Given the description of an element on the screen output the (x, y) to click on. 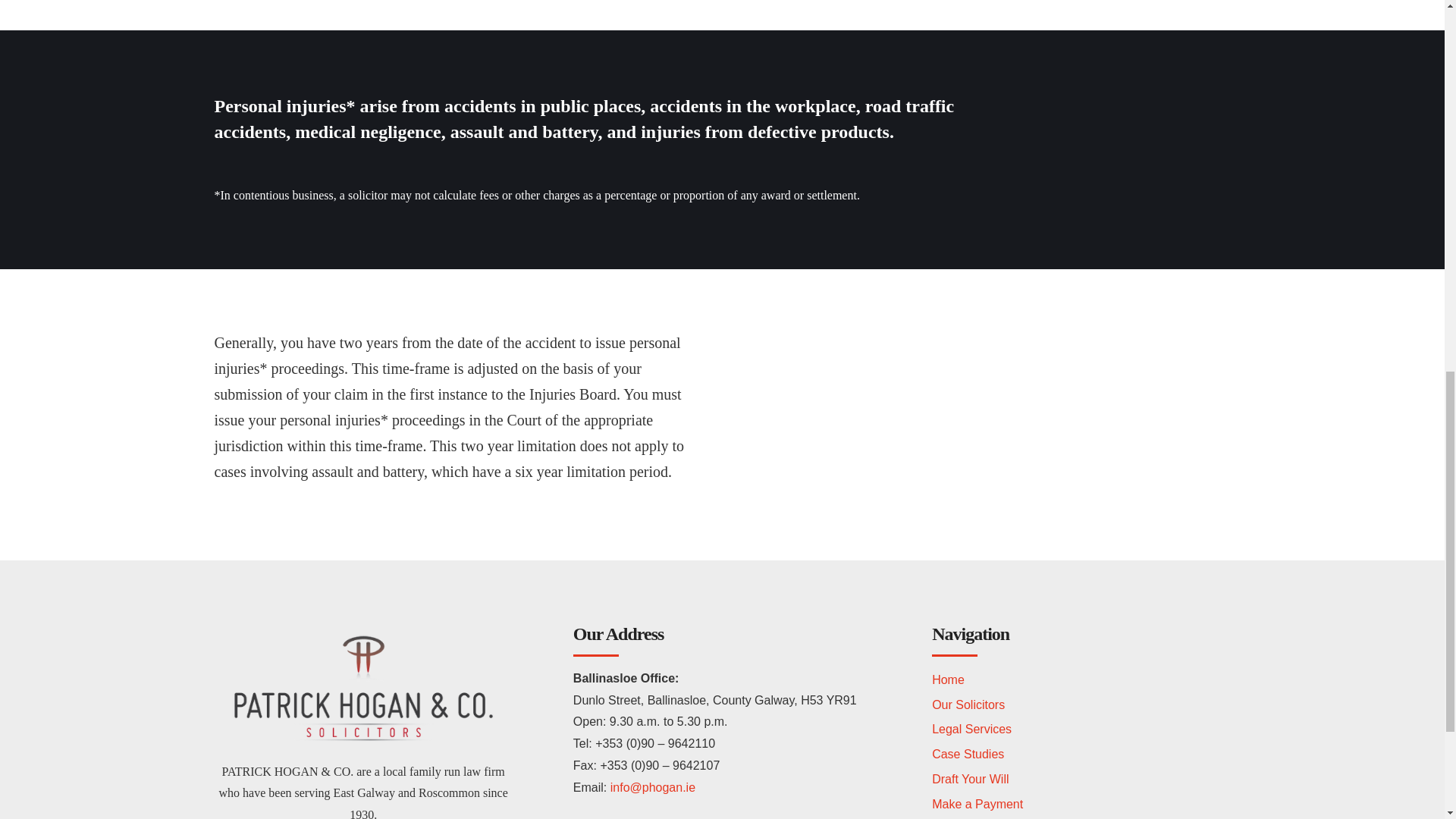
Home (947, 679)
Our Solicitors (967, 704)
Case Studies (967, 753)
Make a Payment (977, 803)
Legal Services (971, 728)
Draft Your Will (970, 779)
